Given the description of an element on the screen output the (x, y) to click on. 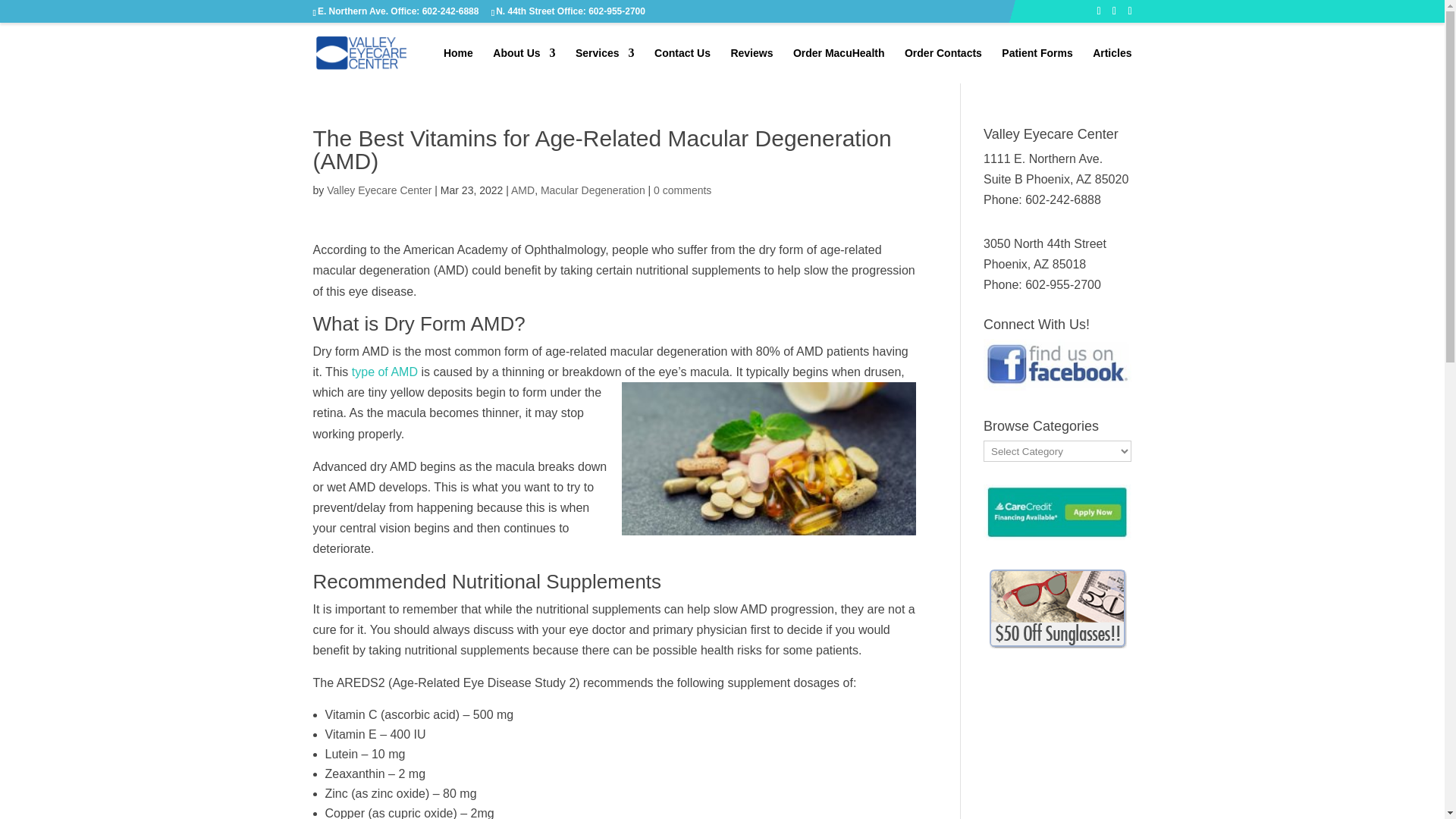
Services (604, 65)
Reviews (751, 65)
E. Northern Ave. Office: 602-242-6888 (398, 10)
AMD (522, 190)
Order MacuHealth (839, 65)
type of AMD (384, 371)
Order Contacts (942, 65)
N. 44th Street Office: 602-955-2700 (570, 10)
Articles (1112, 65)
Valley Eyecare Center (378, 190)
